Given the description of an element on the screen output the (x, y) to click on. 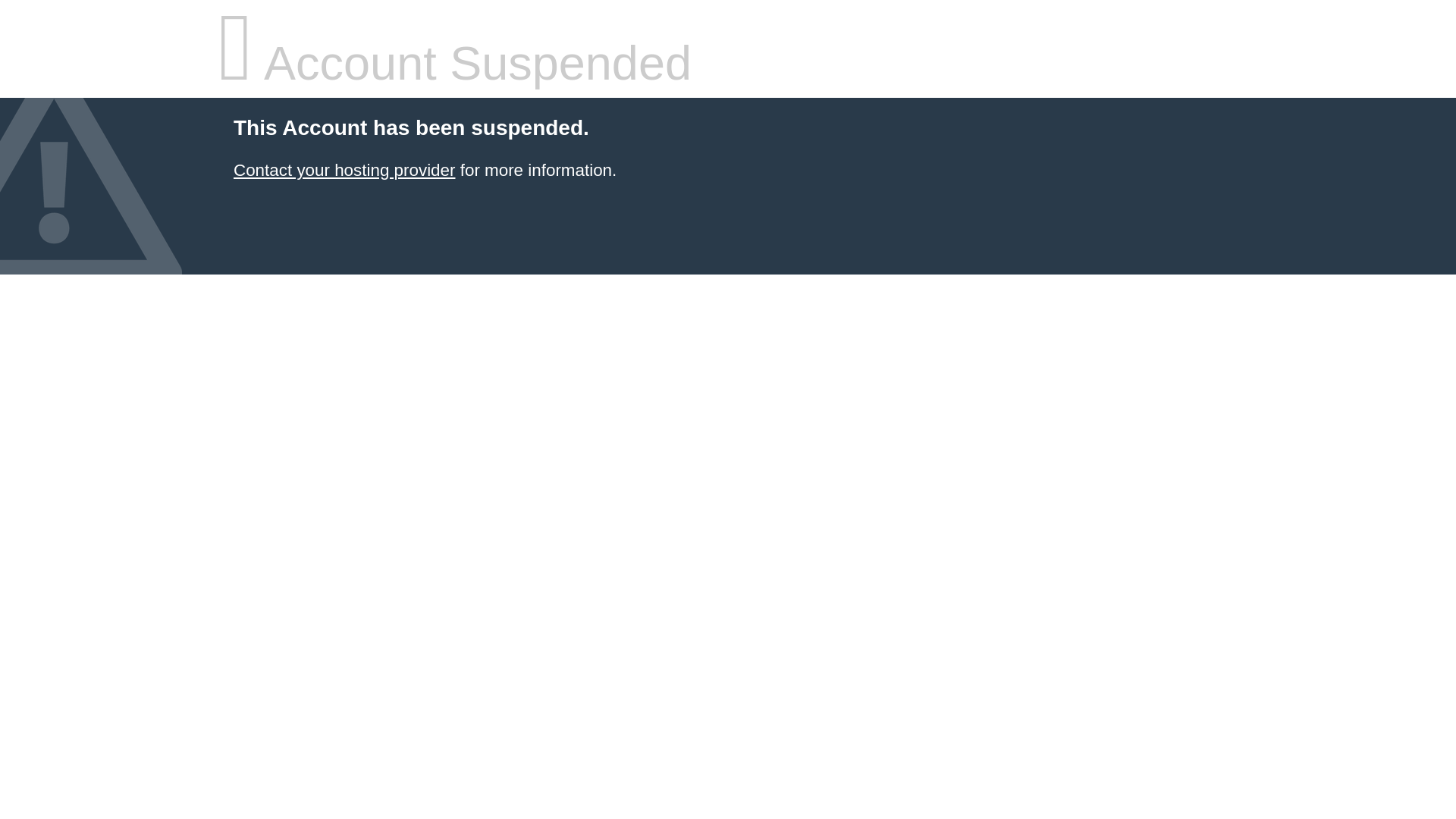
Contact your hosting provider (343, 169)
